Given the description of an element on the screen output the (x, y) to click on. 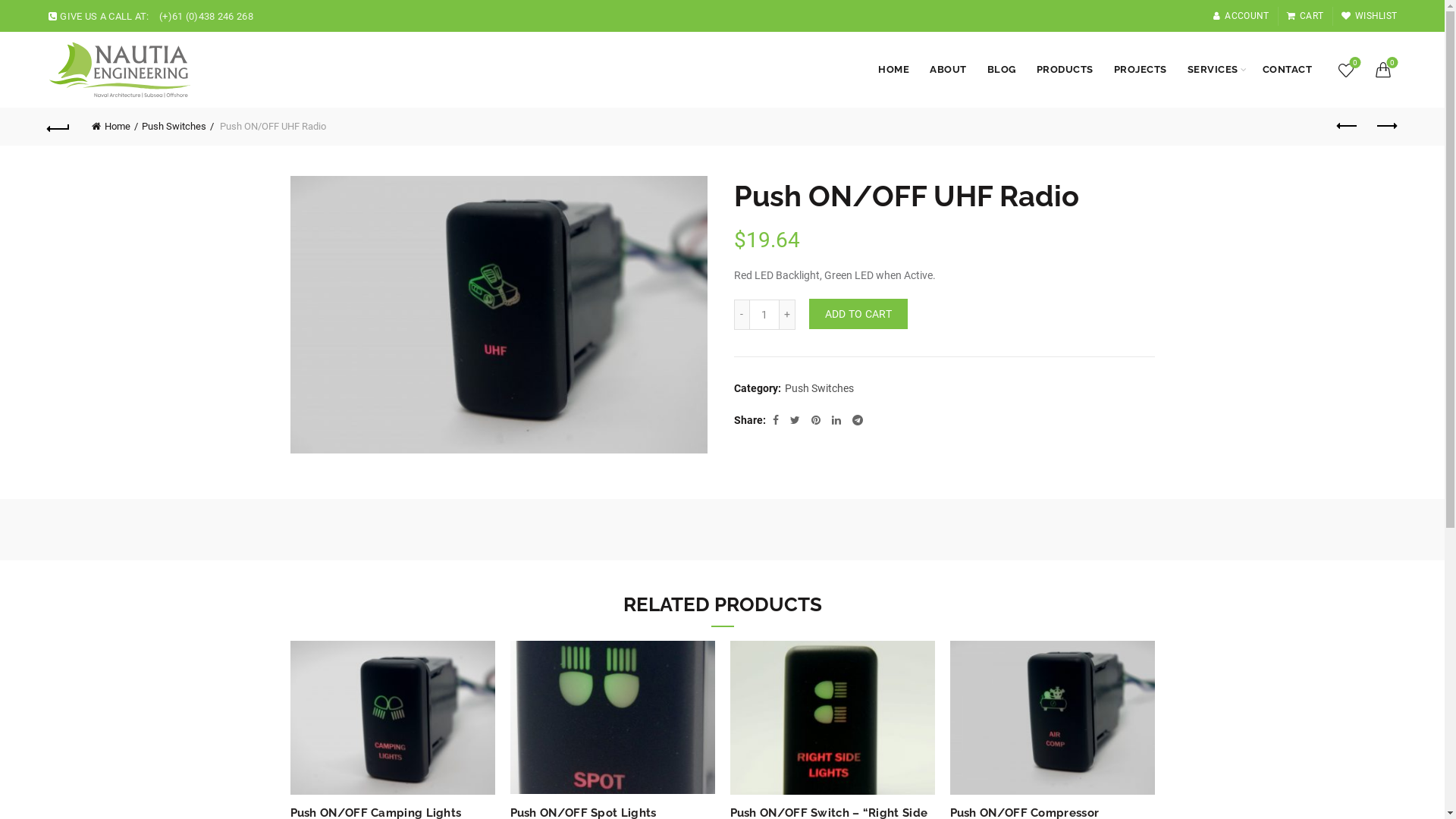
Qty Element type: hover (764, 314)
0 Element type: text (1383, 69)
ADD TO CART Element type: text (857, 313)
ACCOUNT Element type: text (1240, 15)
Next product Element type: text (1385, 126)
PRODUCTS Element type: text (1064, 69)
Wishlist
0 Element type: text (1345, 70)
Push Switches Element type: text (818, 388)
PROJECTS Element type: text (1140, 69)
CONTACT Element type: text (1287, 69)
ABOUT Element type: text (947, 69)
Back Element type: text (59, 126)
SERVICES Element type: text (1212, 69)
uhf Element type: hover (497, 314)
BLOG Element type: text (1001, 69)
Home Element type: text (114, 125)
HOME Element type: text (893, 69)
Previous product Element type: text (1347, 126)
CART Element type: text (1305, 15)
WISHLIST Element type: text (1368, 15)
Push Switches Element type: text (177, 125)
